Given the description of an element on the screen output the (x, y) to click on. 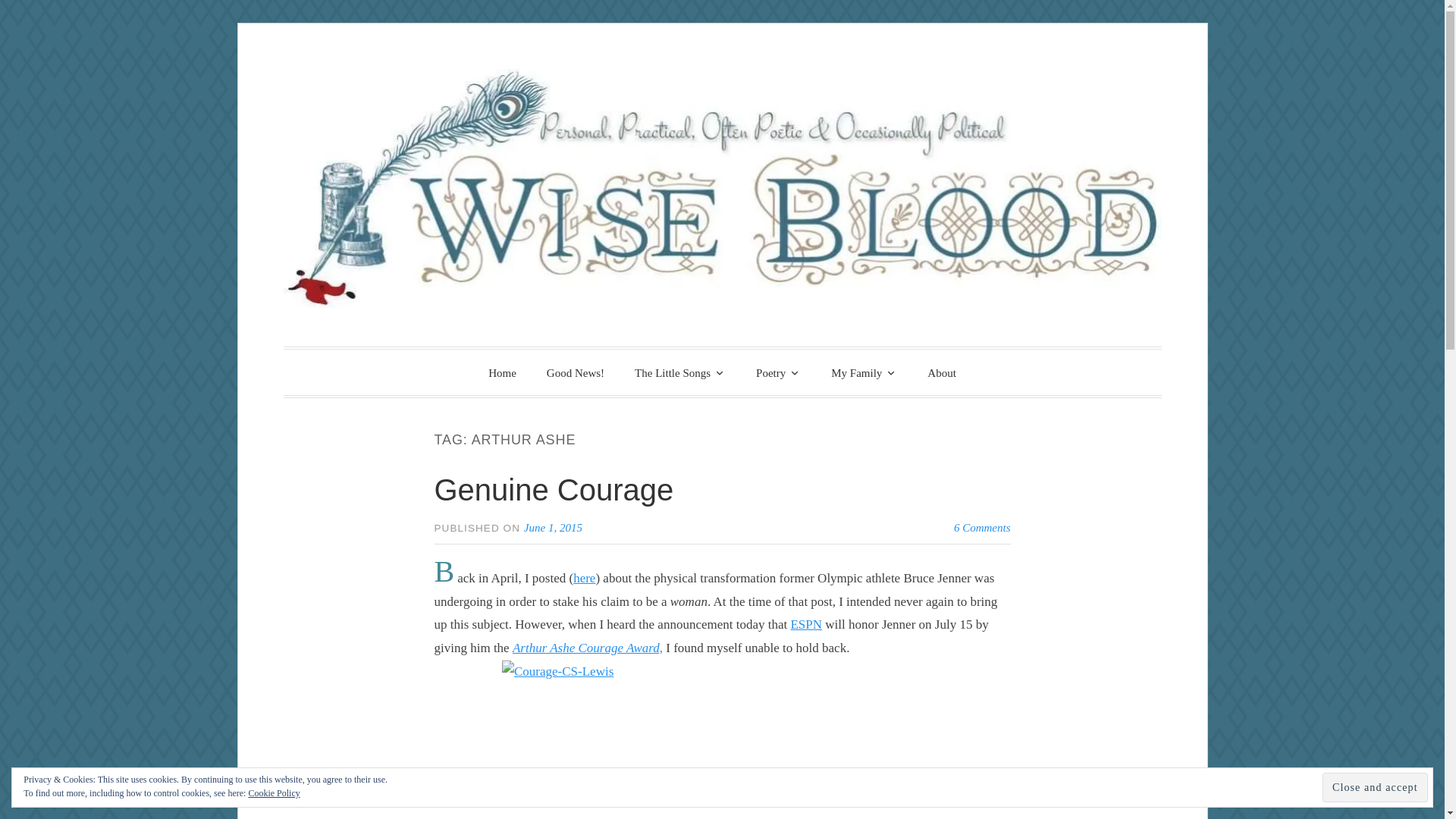
Arthur Ashe Courage Award, (587, 647)
Home (502, 373)
Good News! (575, 373)
6 Comments (981, 527)
About (941, 373)
here (584, 577)
ESPN (806, 624)
Close and accept (1375, 787)
My Family (863, 371)
June 1, 2015 (553, 527)
Genuine Courage (552, 489)
The Little Songs (680, 371)
Poetry (778, 371)
Wiseblooding (453, 370)
